Given the description of an element on the screen output the (x, y) to click on. 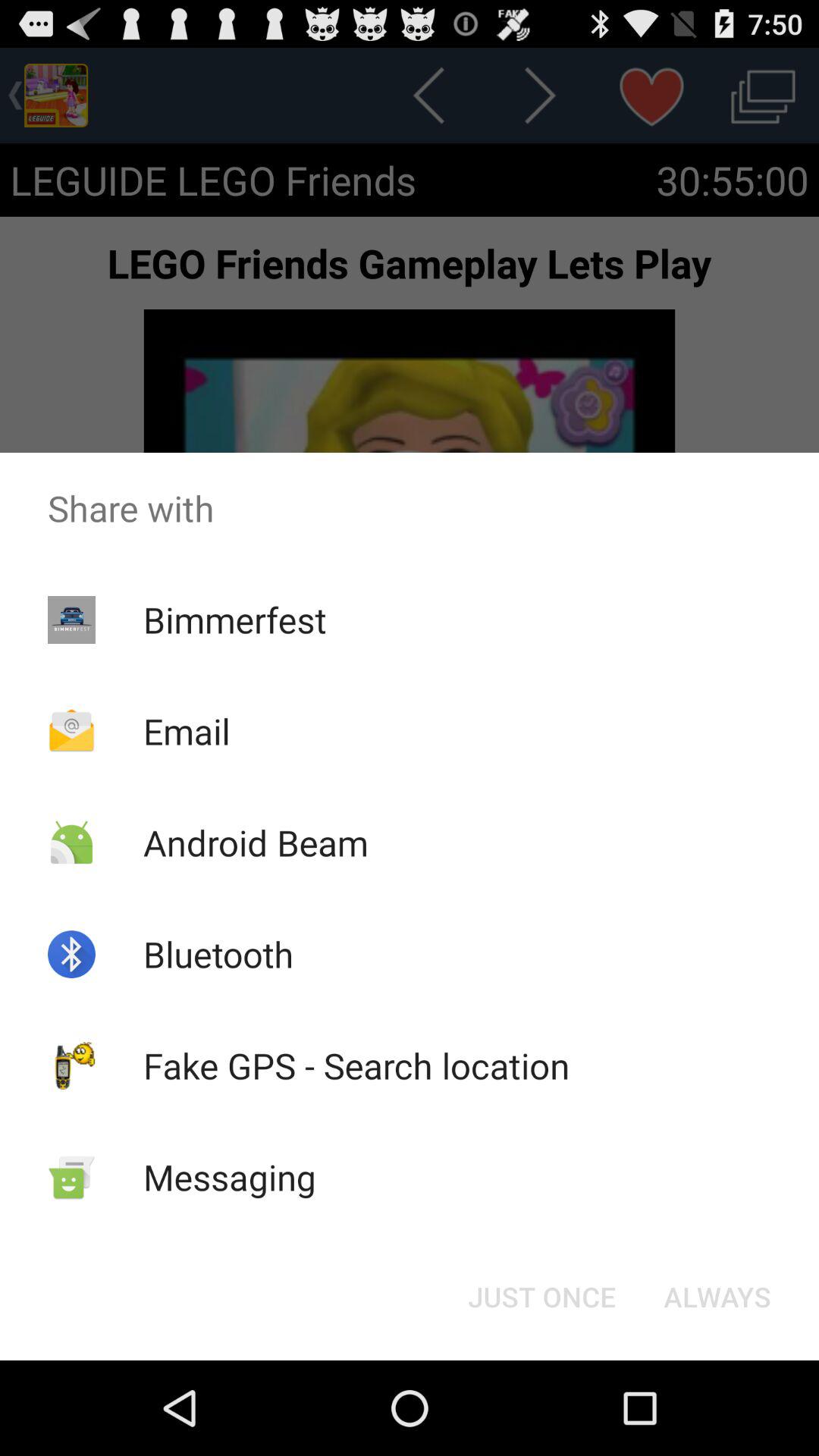
swipe to the bluetooth (218, 953)
